Given the description of an element on the screen output the (x, y) to click on. 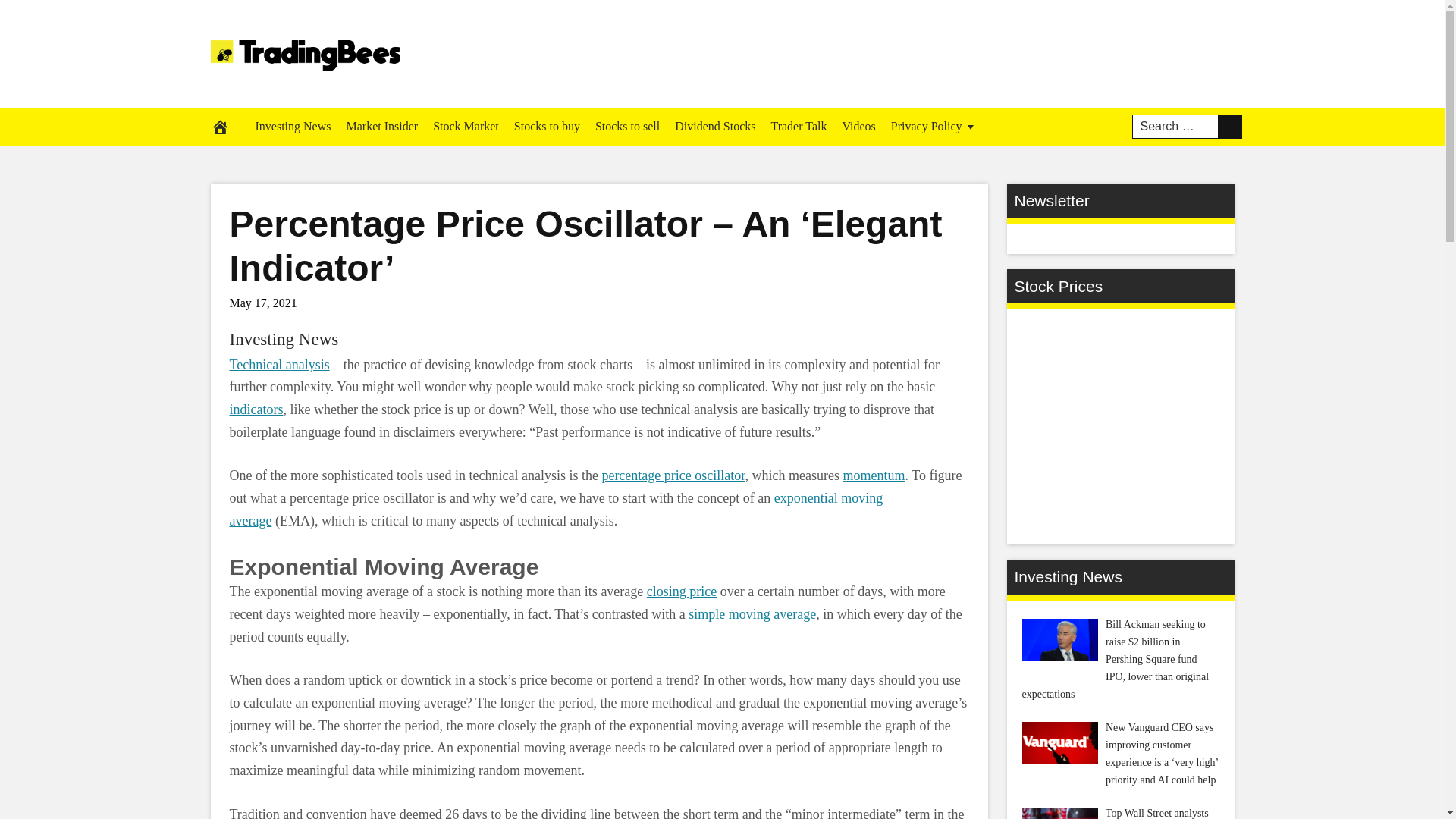
Investing News (282, 339)
Trader Talk (798, 126)
momentum (874, 475)
Technical analysis (278, 364)
Investing News (282, 339)
Privacy Policy (934, 126)
Stock Market (465, 126)
Stocks to buy (547, 126)
Stocks to sell (627, 126)
Market Insider (381, 126)
percentage price oscillator (672, 475)
Dividend Stocks (714, 126)
Videos (858, 126)
Investing News (292, 126)
indicators (255, 409)
